Given the description of an element on the screen output the (x, y) to click on. 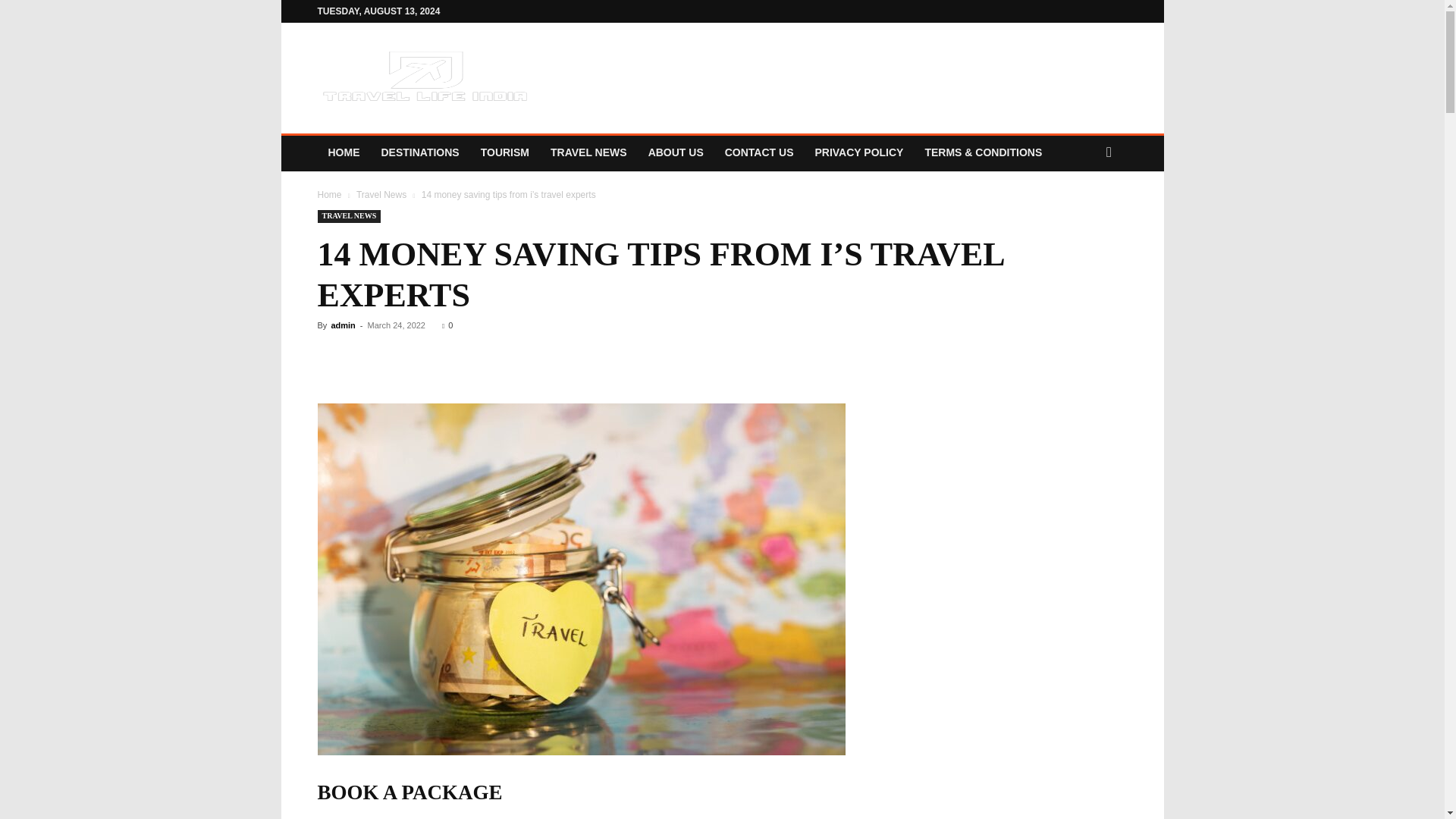
ABOUT US (675, 152)
PRIVACY POLICY (858, 152)
DESTINATIONS (418, 152)
TRAVEL NEWS (348, 215)
TRAVEL NEWS (588, 152)
View all posts in Travel News (381, 194)
0 (447, 325)
HOME (343, 152)
Home (328, 194)
